Given the description of an element on the screen output the (x, y) to click on. 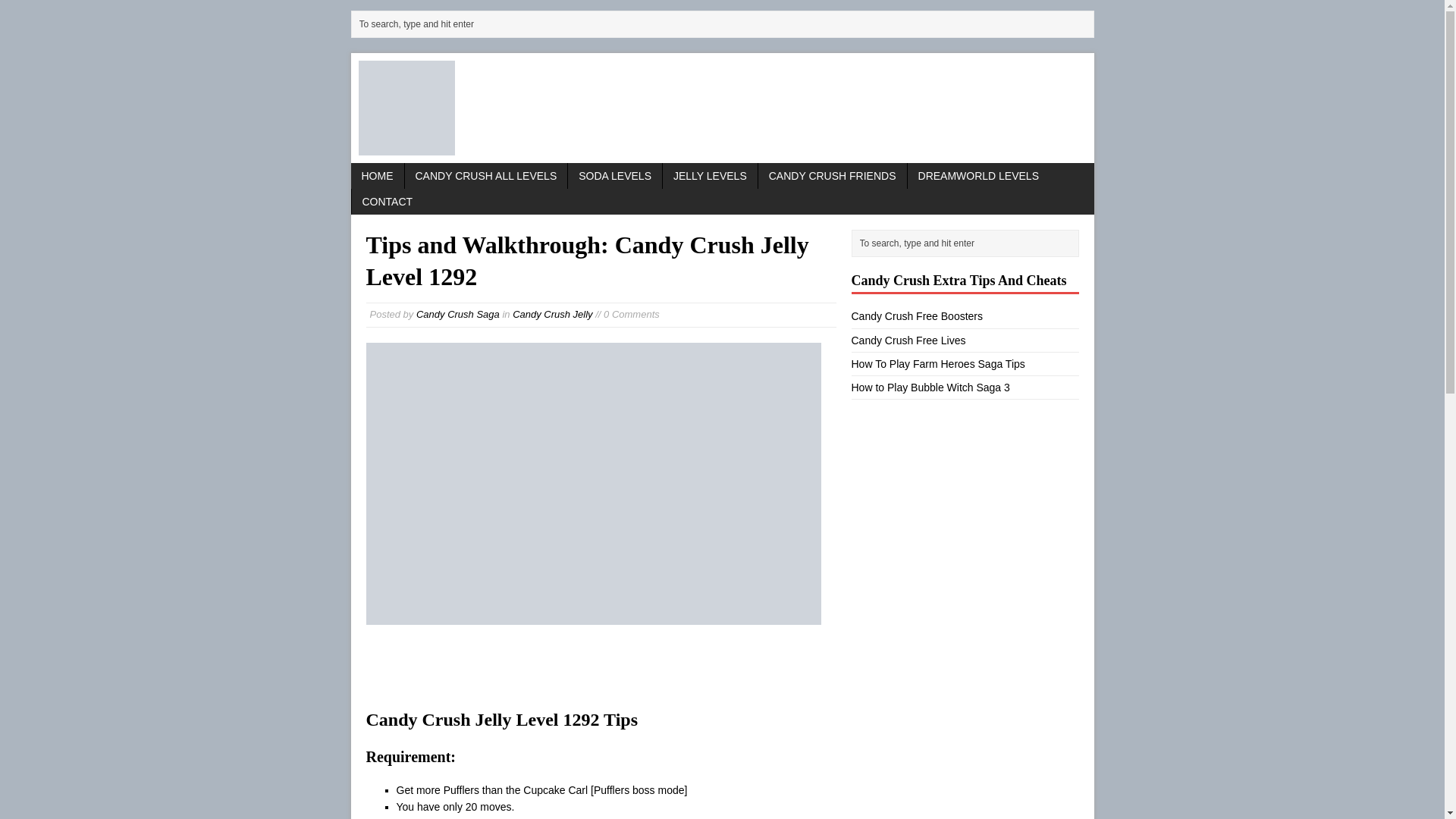
Candy Crush Saga (457, 314)
Candy Crush Mom (721, 107)
To search, type and hit enter (968, 243)
CANDY CRUSH FRIENDS (832, 175)
Candy Crush Free Boosters (916, 316)
How To Play Farm Heroes Saga Tips (937, 363)
candy-crush-jelly-level-1292 (593, 483)
CANDY CRUSH ALL LEVELS (485, 175)
Candy Crush Jelly (552, 314)
To search, type and hit enter (725, 24)
How to Play Bubble Witch Saga 3 (929, 387)
HOME (376, 175)
Candy Crush Free Lives (907, 340)
JELLY LEVELS (709, 175)
CONTACT (387, 201)
